Given the description of an element on the screen output the (x, y) to click on. 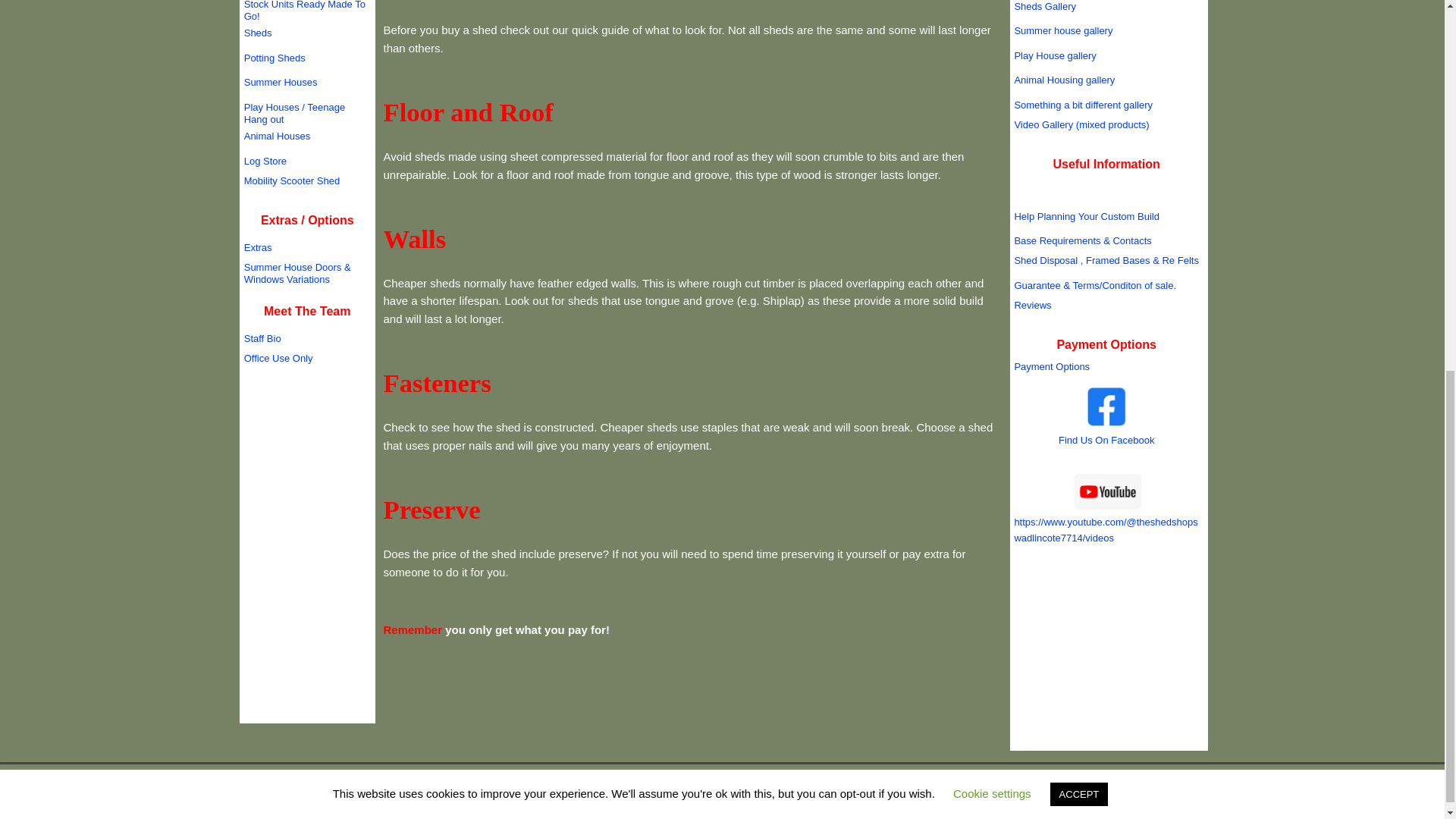
Office Use Only (278, 357)
Animal Housing gallery (1064, 79)
Payment Options (1051, 366)
Summer house gallery (1062, 30)
Potting Sheds (274, 57)
Play House gallery (1054, 55)
Mobility Scooter Shed (291, 180)
Animal Houses (277, 135)
Staff Bio (262, 337)
Find Us On Facebook (1106, 439)
Log Store (265, 161)
Summer Houses (280, 81)
Reviews (1032, 305)
Comments RSS (767, 812)
Help Planning Your Custom Build (1085, 215)
